Given the description of an element on the screen output the (x, y) to click on. 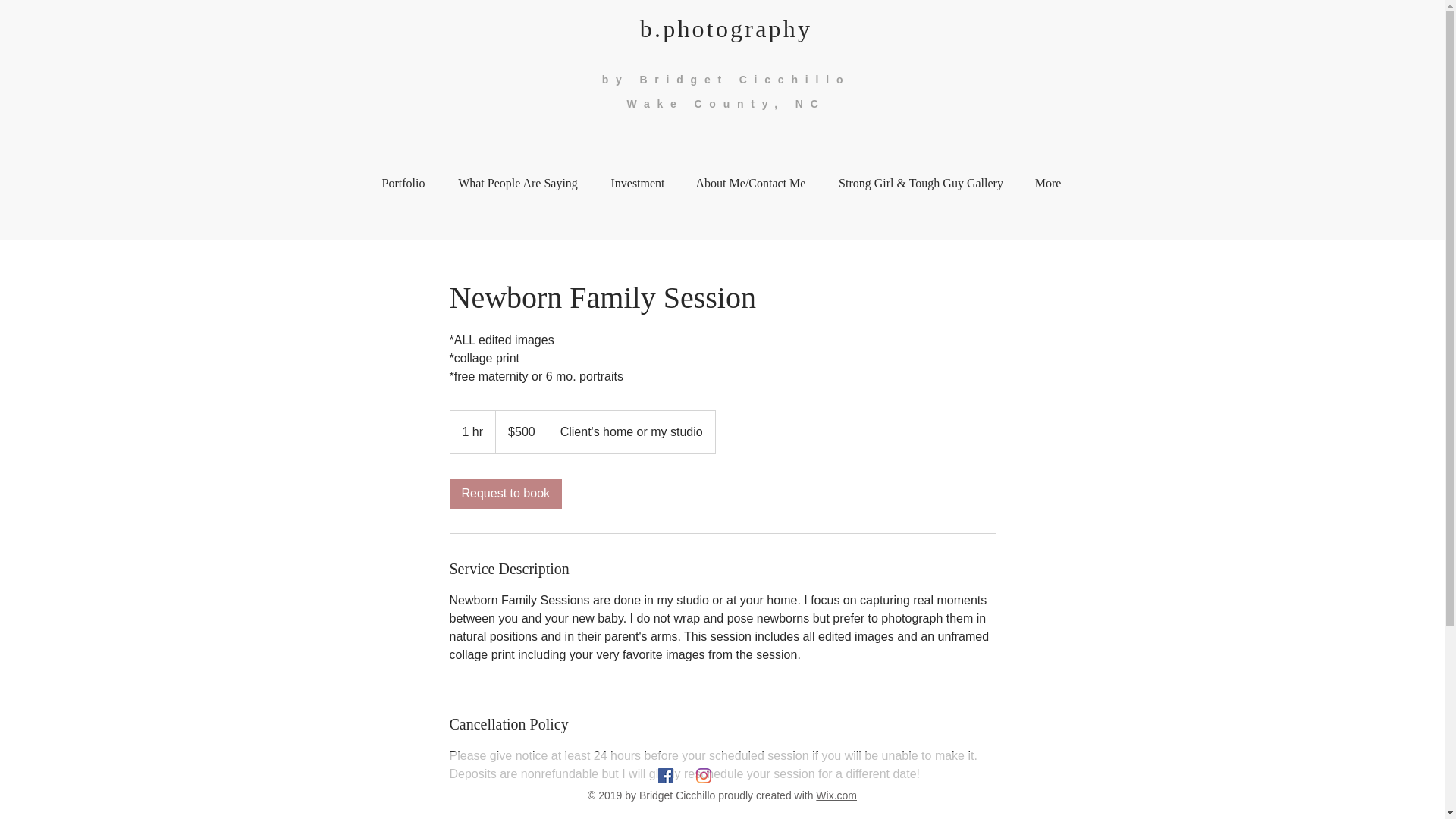
b.photography (726, 28)
Request to book (505, 493)
What People Are Saying (517, 182)
Wix.com (836, 795)
Portfolio (403, 182)
Investment (637, 182)
by Bridget Cicchillo (726, 79)
